Given the description of an element on the screen output the (x, y) to click on. 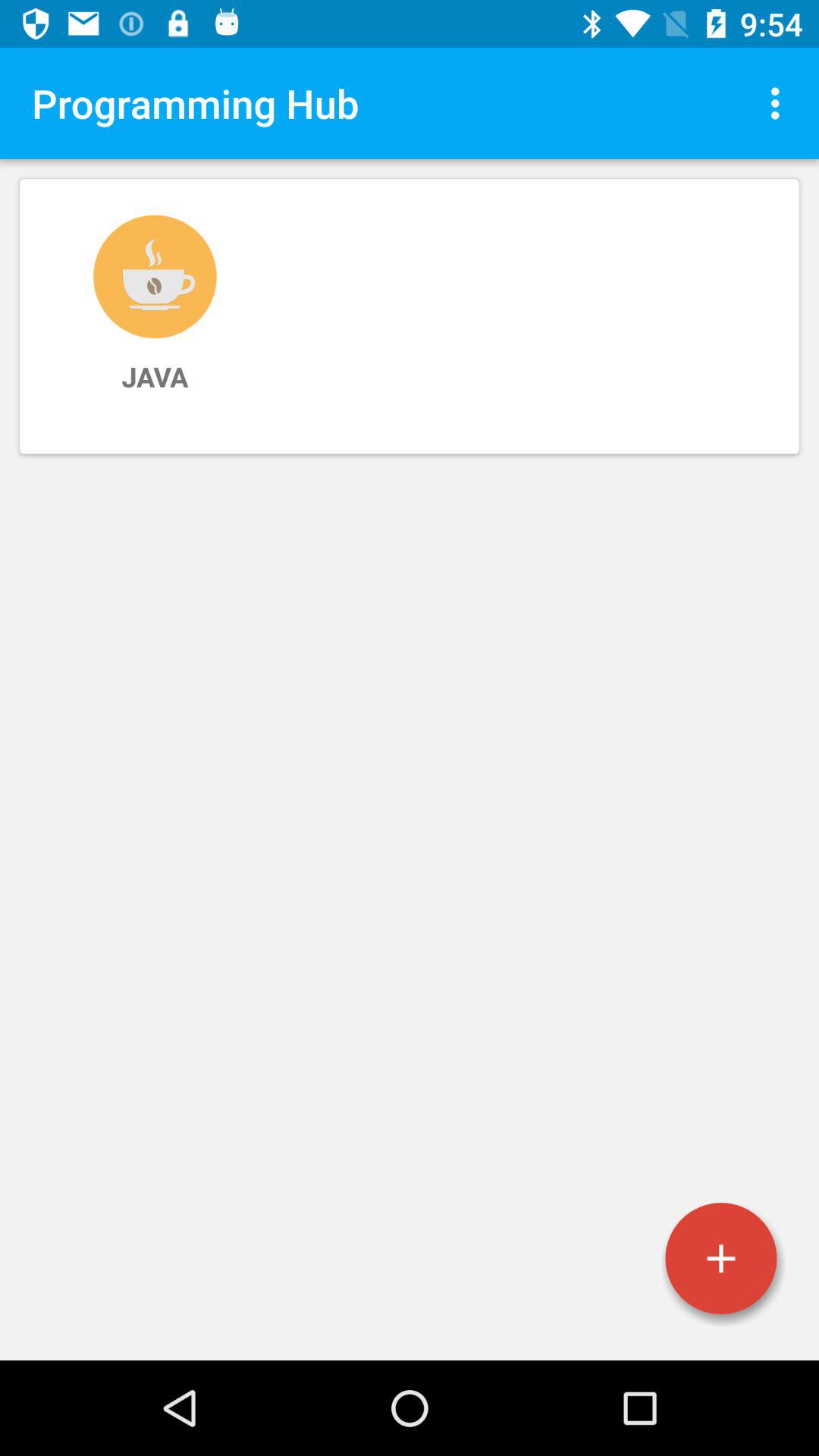
press icon at the top right corner (779, 103)
